Given the description of an element on the screen output the (x, y) to click on. 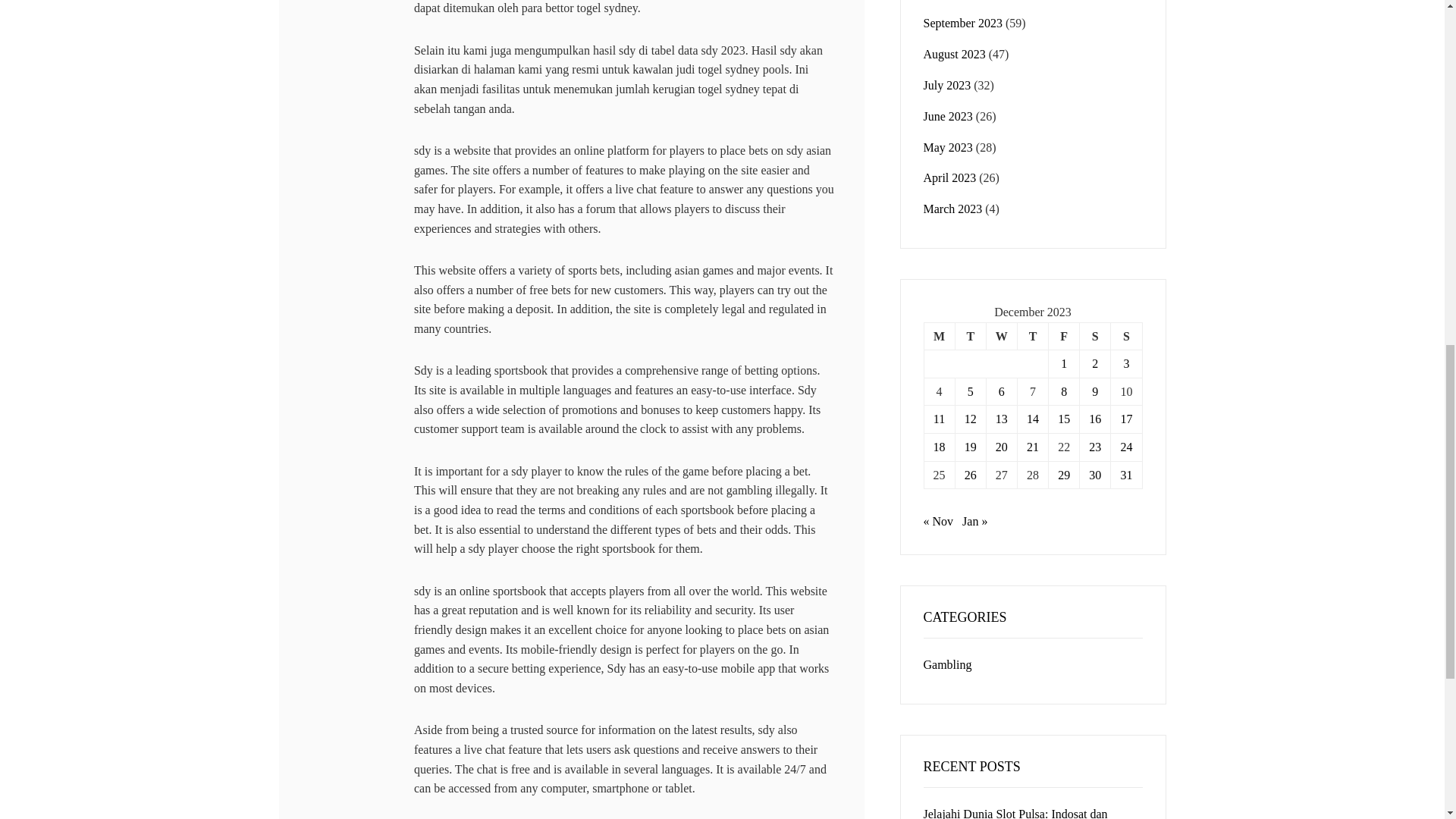
Sunday (1125, 336)
Wednesday (1000, 336)
September 2023 (963, 22)
July 2023 (947, 84)
Tuesday (970, 336)
Saturday (1095, 336)
June 2023 (947, 115)
March 2023 (952, 208)
August 2023 (954, 53)
May 2023 (947, 146)
April 2023 (949, 177)
Friday (1064, 336)
Monday (939, 336)
Thursday (1032, 336)
